Given the description of an element on the screen output the (x, y) to click on. 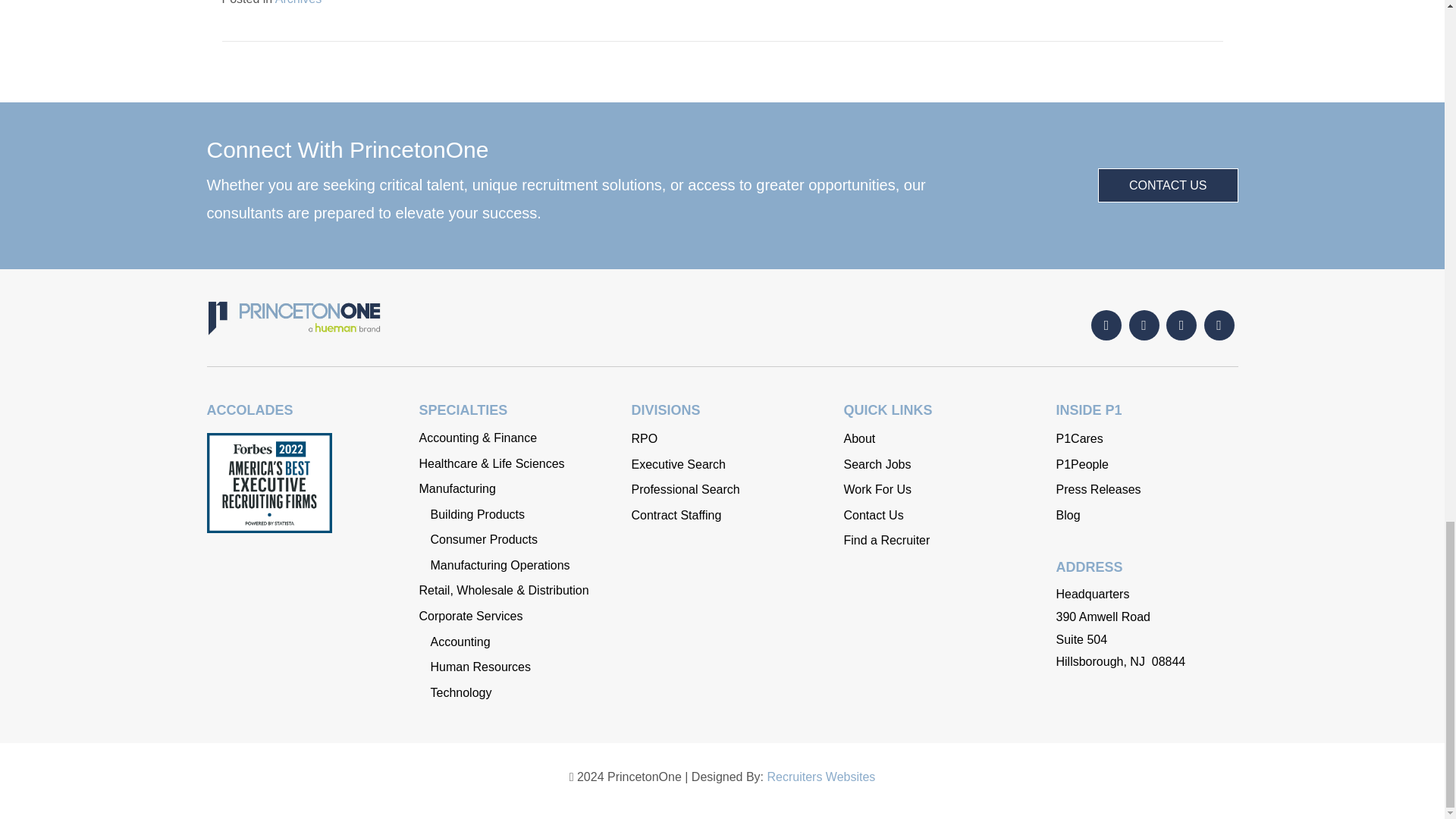
CONTACT US (1168, 185)
Archives (298, 2)
